Given the description of an element on the screen output the (x, y) to click on. 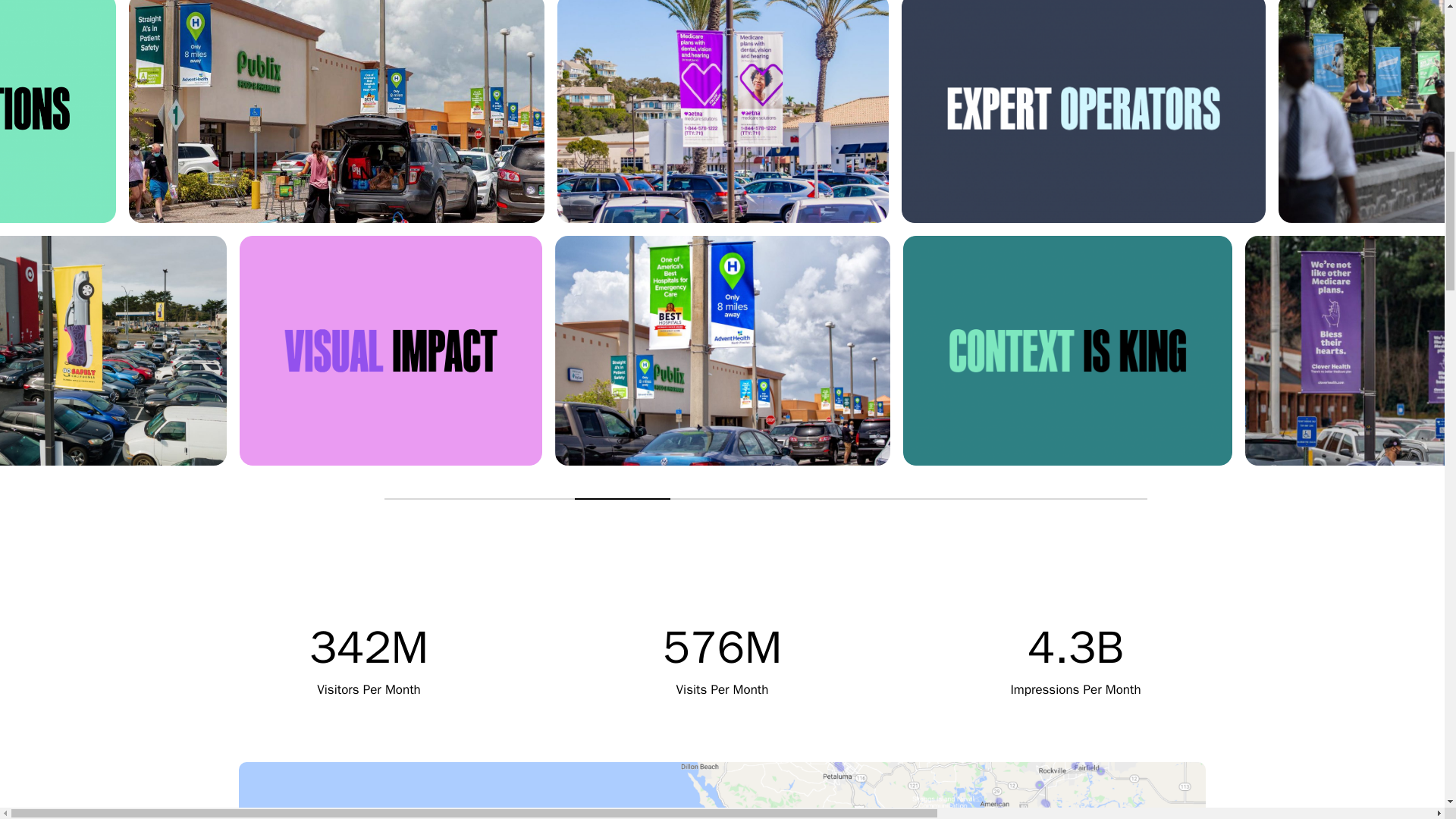
3 (622, 498)
Previous Image (318, 499)
7 (1004, 498)
Next Image (363, 499)
4 (717, 498)
1 (432, 498)
6 (908, 498)
5 (813, 498)
8 (1100, 498)
